Given the description of an element on the screen output the (x, y) to click on. 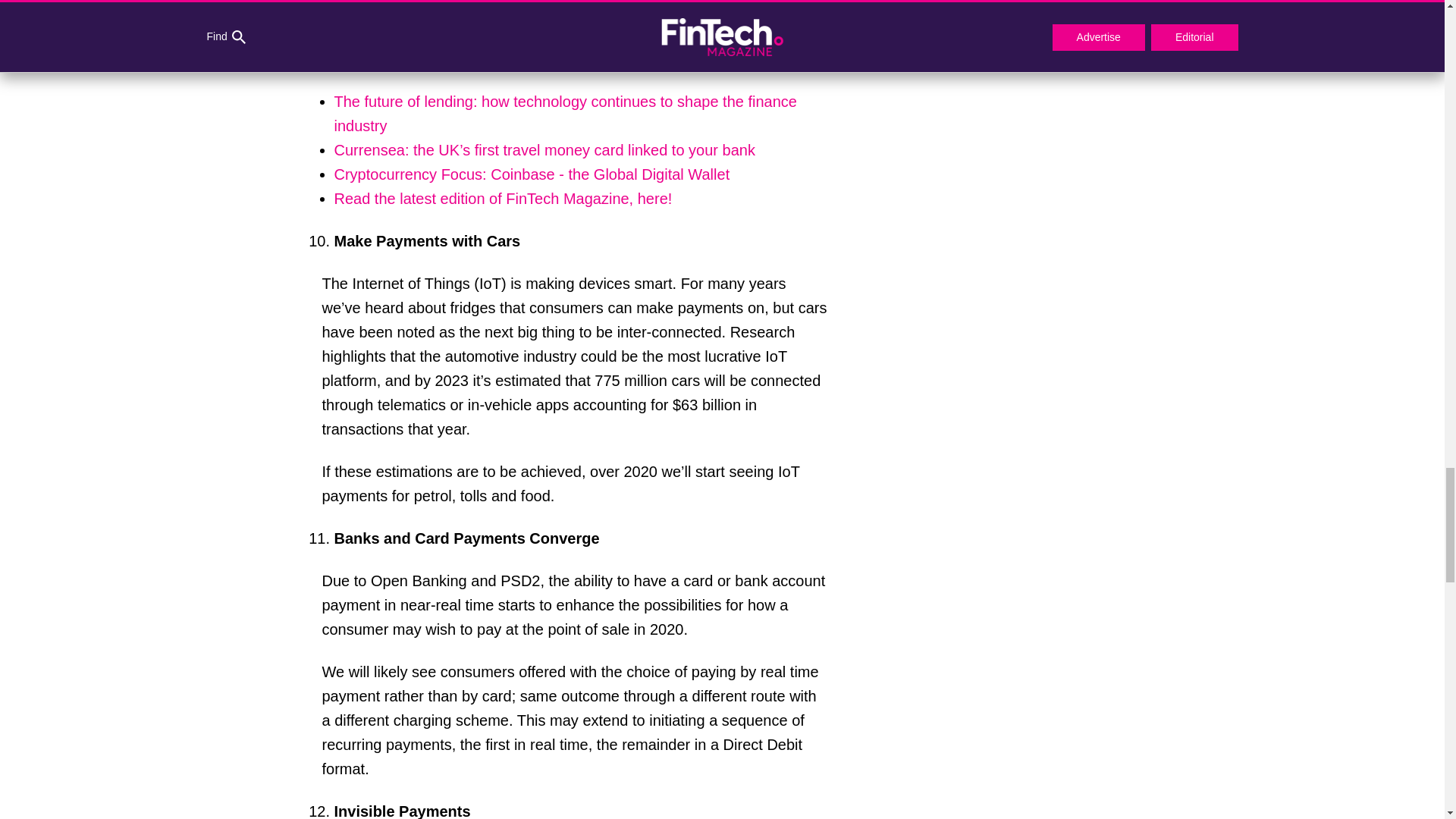
Read the latest edition of FinTech Magazine, here! (502, 198)
Cryptocurrency Focus: Coinbase - the Global Digital Wallet (531, 174)
